Given the description of an element on the screen output the (x, y) to click on. 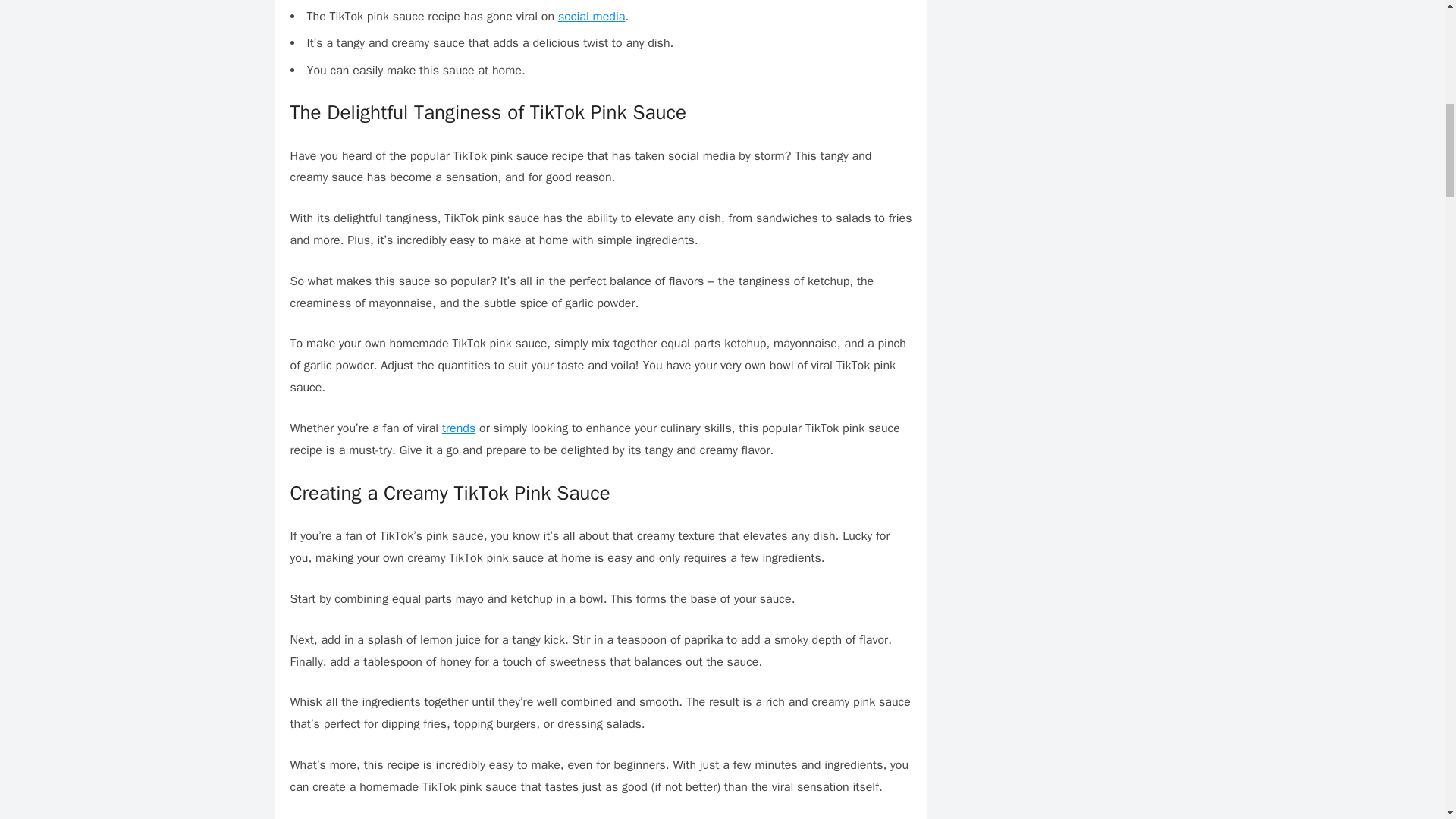
social media (591, 16)
Social Media Trends (459, 427)
Social Media for Small Businesses (591, 16)
trends (459, 427)
